Given the description of an element on the screen output the (x, y) to click on. 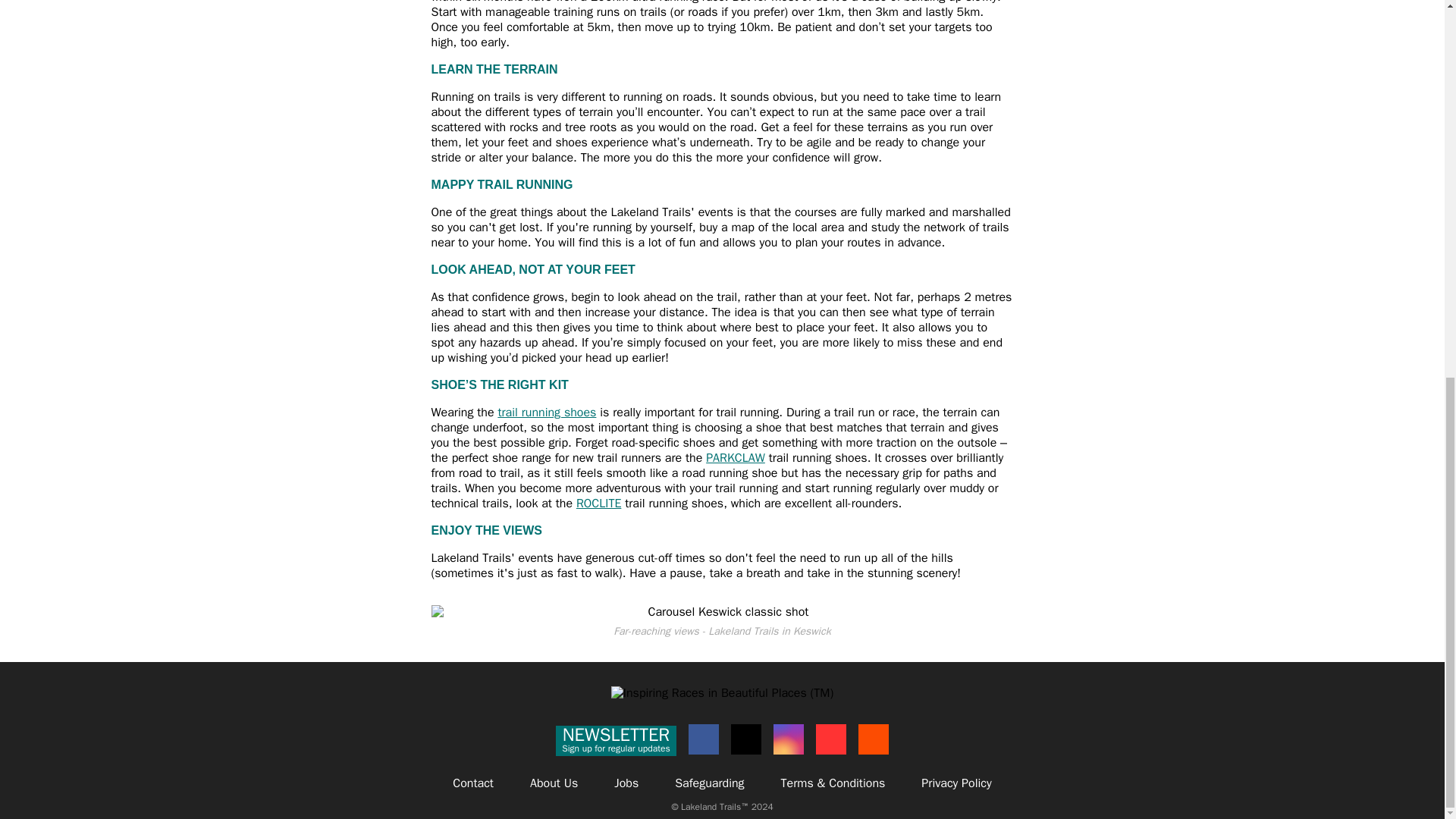
Safeguarding (708, 782)
Contact (473, 782)
About Us (553, 782)
ROCLITE (598, 503)
PARKCLAW (735, 458)
trail running shoes (615, 740)
Jobs (546, 412)
